Given the description of an element on the screen output the (x, y) to click on. 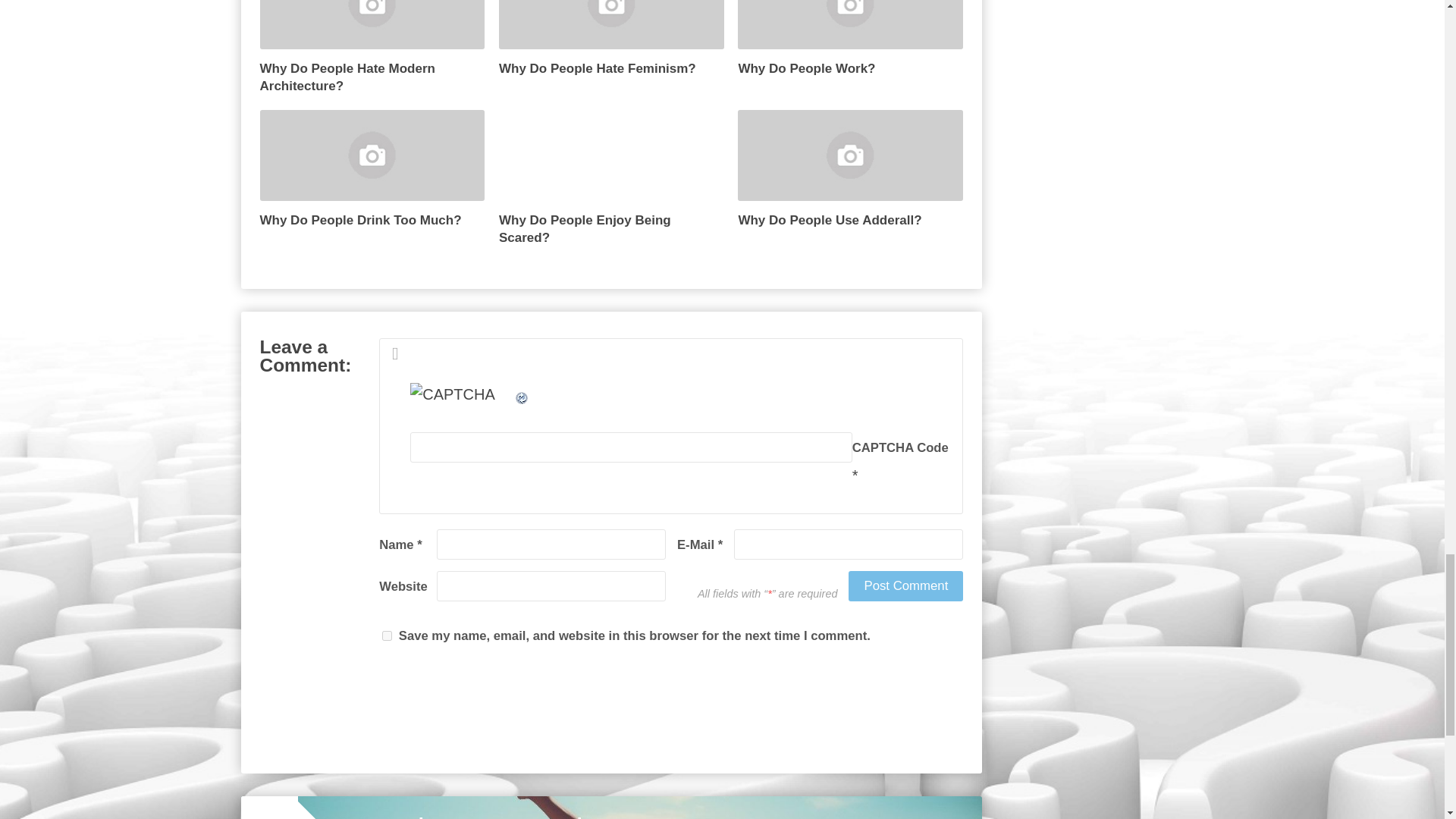
Why Do People Drink Too Much? (371, 169)
Why Do People Enjoy Being Scared? (611, 177)
Why Do People Hate Feminism? (611, 38)
Post Comment (905, 585)
Why Do People Work? (850, 38)
Post Comment (905, 585)
Why Do People Use Adderall? (850, 169)
Refresh (522, 393)
Why Do People Hate Modern Architecture? (371, 47)
yes (386, 635)
CAPTCHA (461, 399)
